Given the description of an element on the screen output the (x, y) to click on. 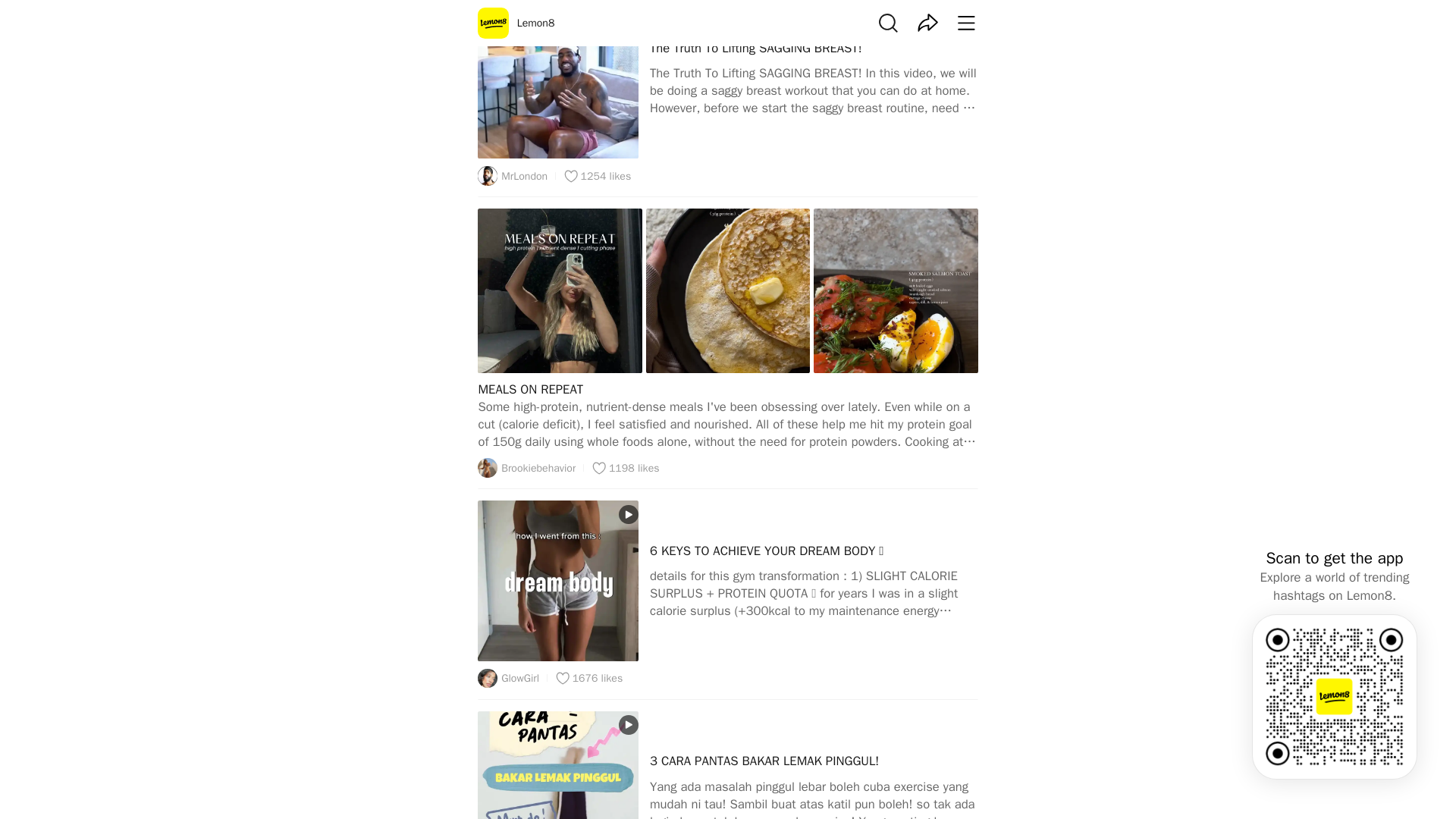
GlowGirl (507, 678)
Brookiebehavior (727, 300)
MrLondon (526, 467)
